Given the description of an element on the screen output the (x, y) to click on. 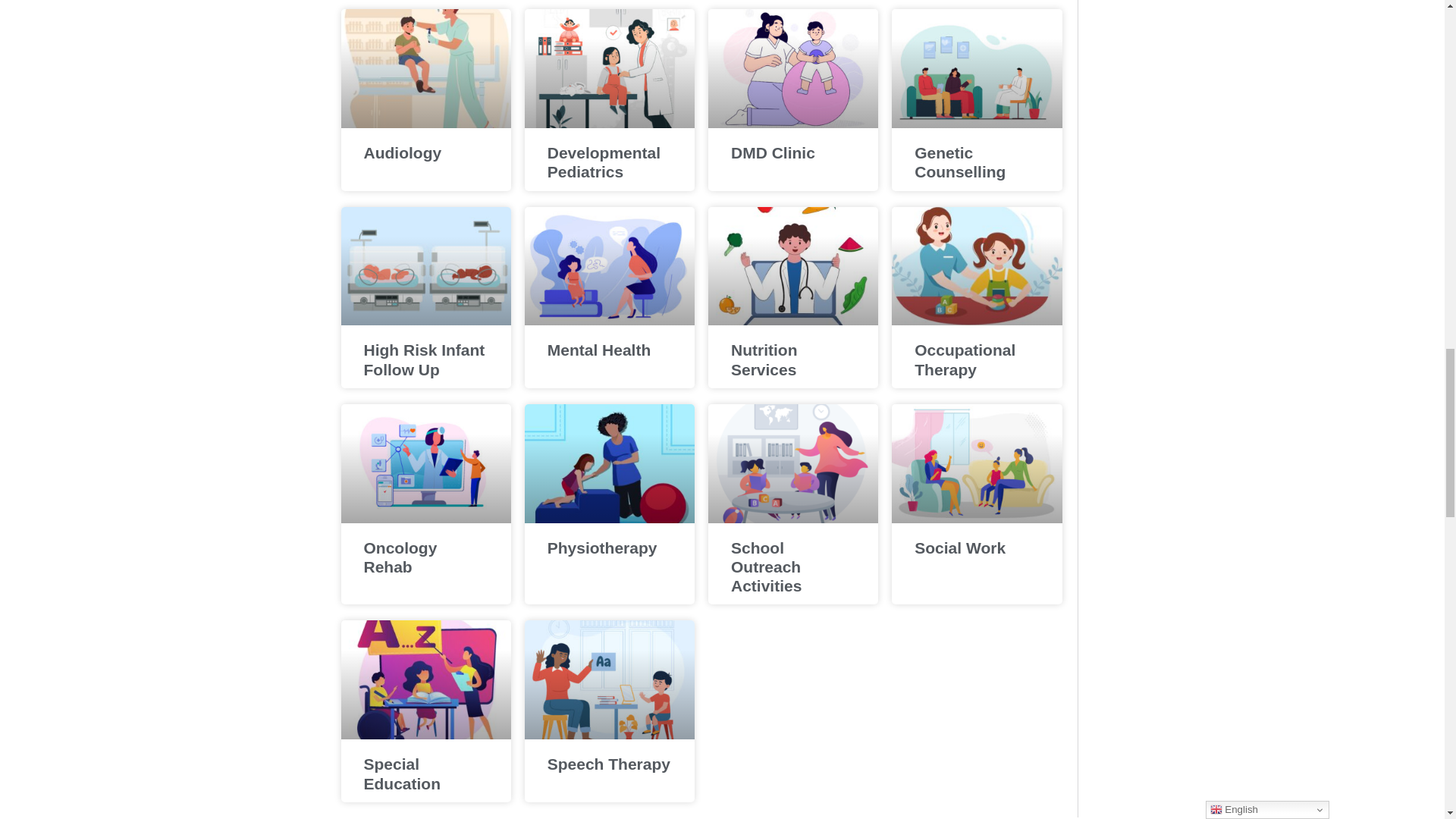
Nutrition Services  (765, 359)
Genetic Counselling (960, 162)
High Risk Infant Follow Up (424, 359)
Developmental Pediatrics (604, 162)
Audiology (403, 152)
DMD Clinic (772, 152)
Mental Health (598, 349)
